Given the description of an element on the screen output the (x, y) to click on. 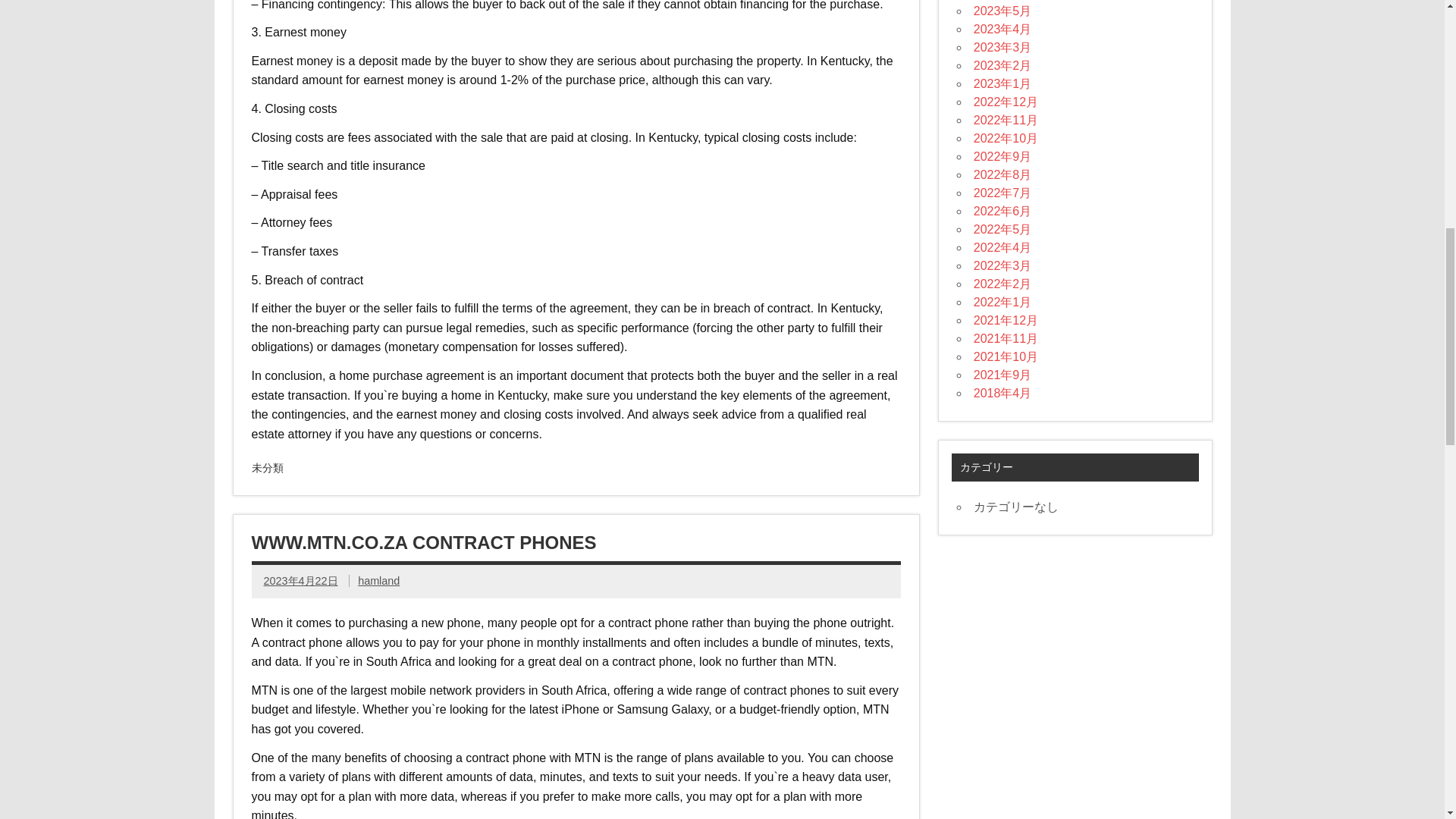
hamland (378, 580)
View all posts by hamland (378, 580)
8:48 AM (300, 580)
WWW.MTN.CO.ZA CONTRACT PHONES (423, 542)
